Given the description of an element on the screen output the (x, y) to click on. 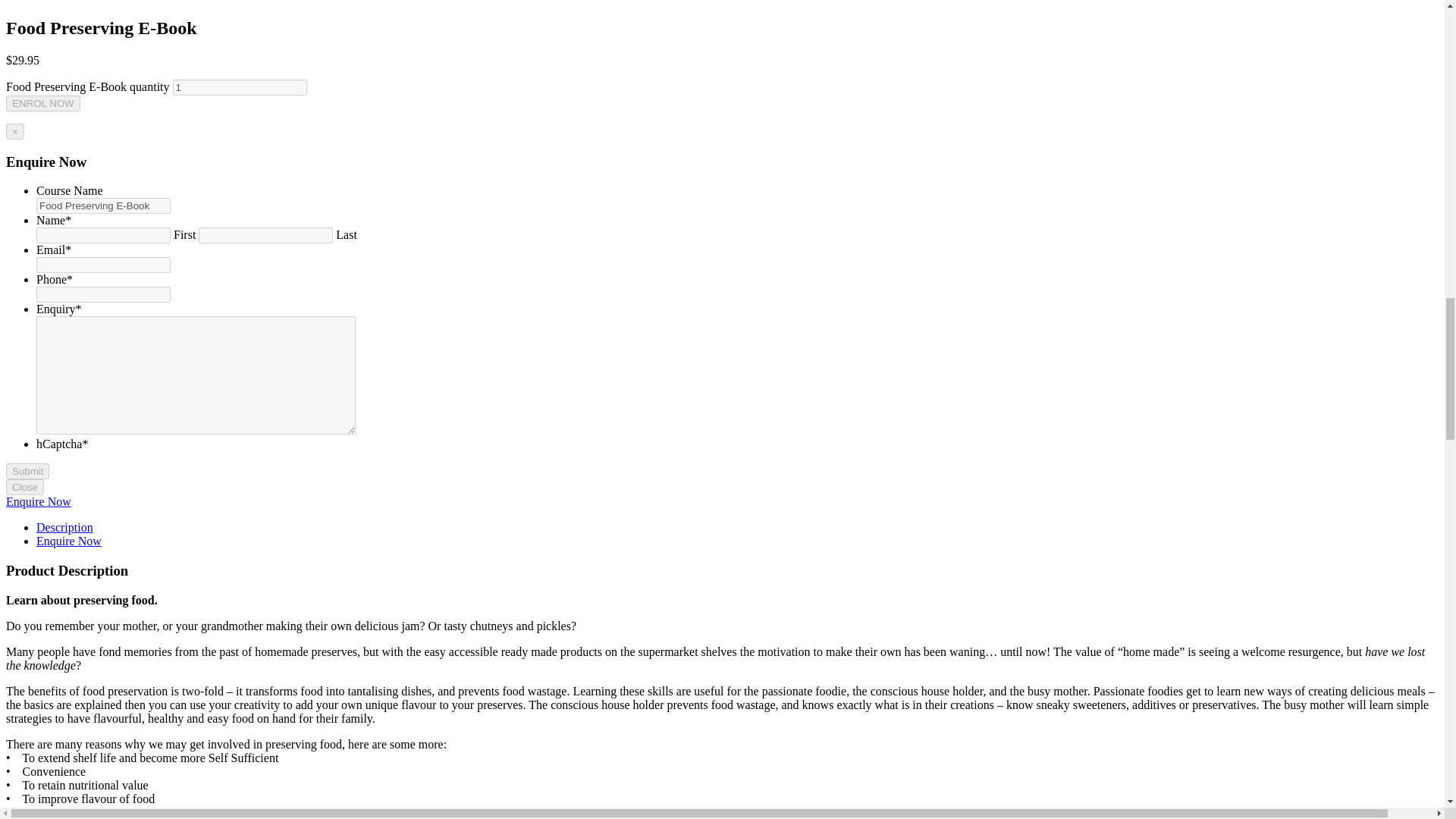
Food Preserving E-Book (103, 205)
1 (240, 87)
Submit (27, 471)
